Given the description of an element on the screen output the (x, y) to click on. 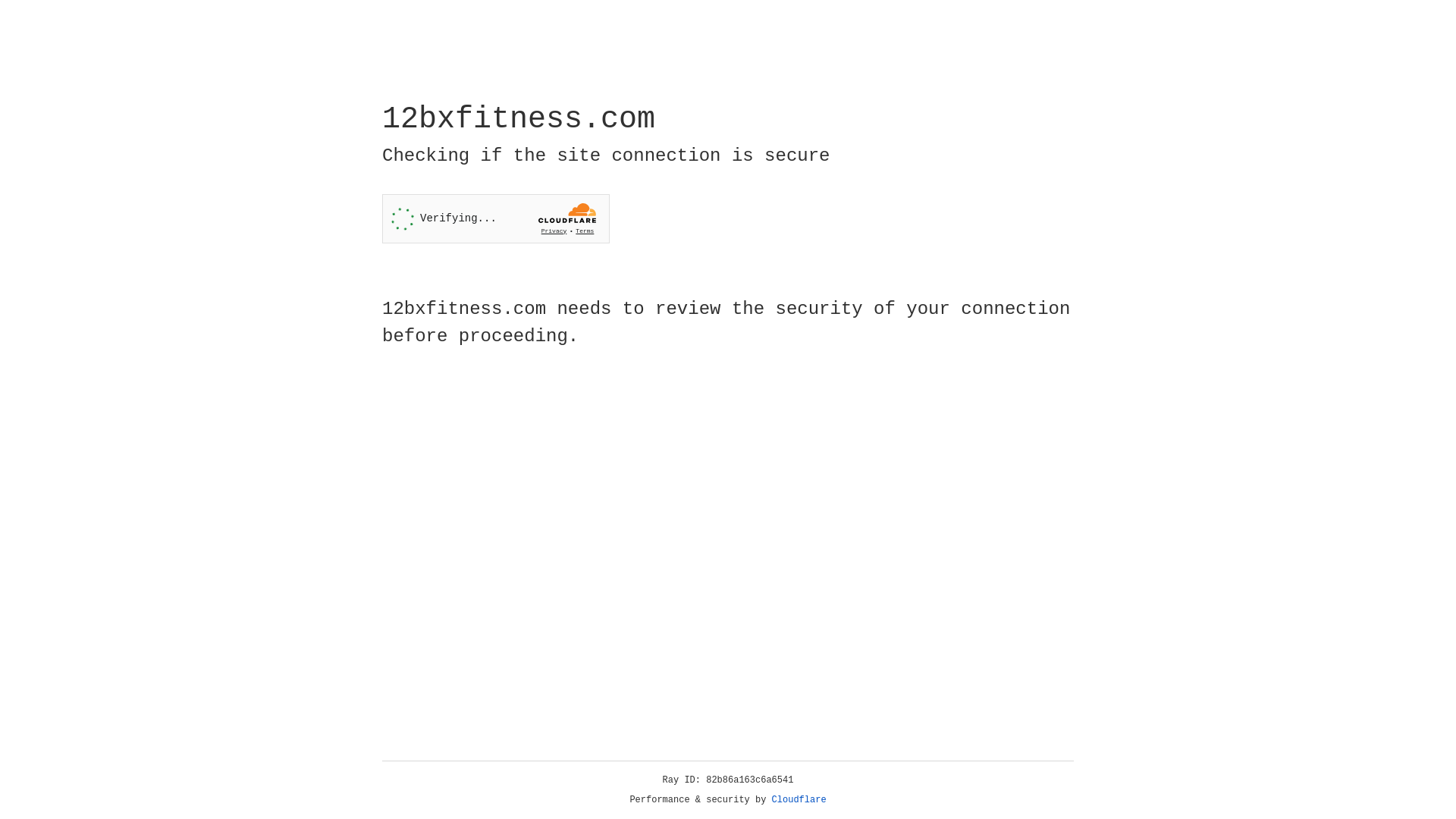
Widget containing a Cloudflare security challenge Element type: hover (495, 218)
Cloudflare Element type: text (798, 799)
